Given the description of an element on the screen output the (x, y) to click on. 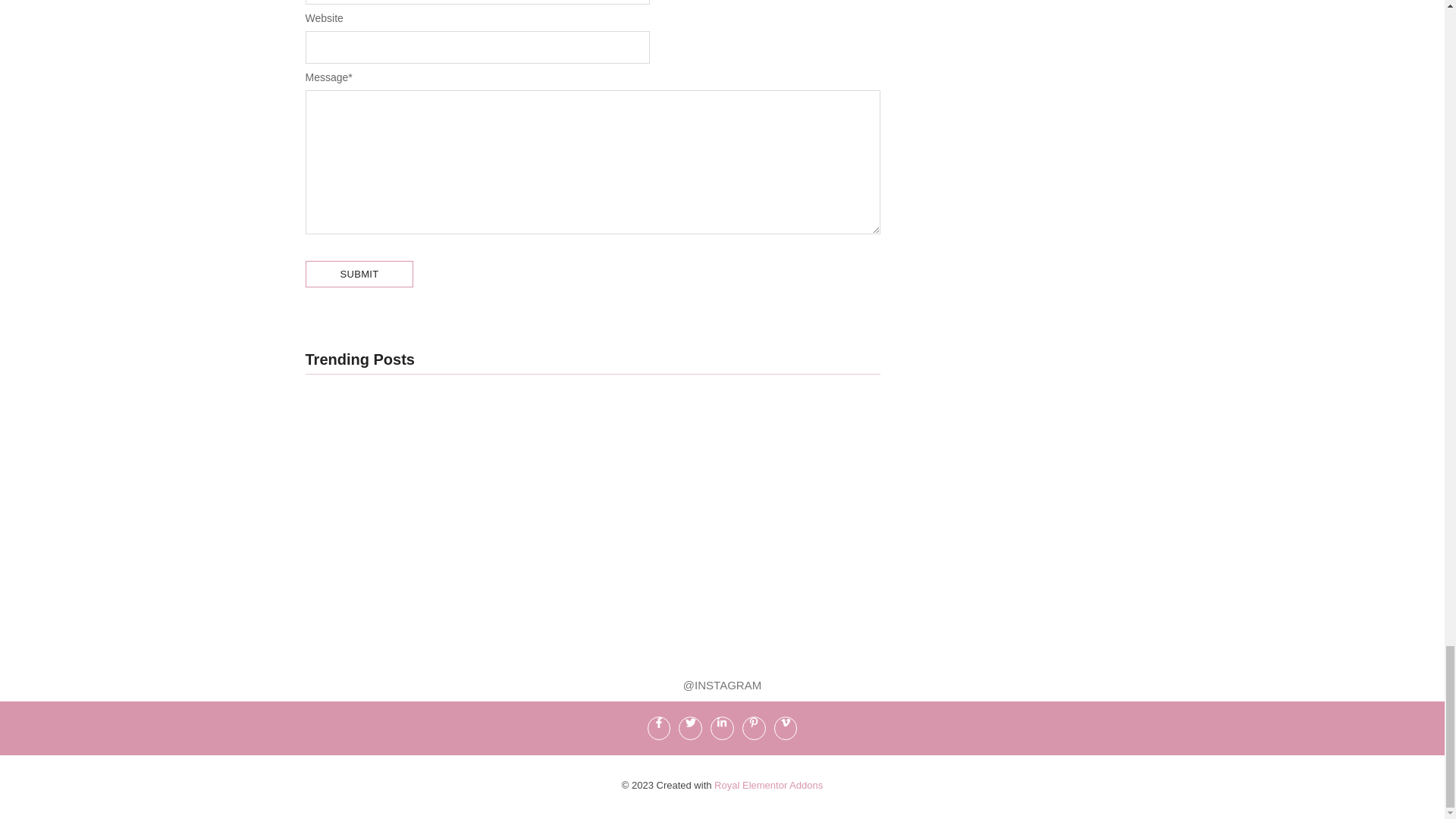
Submit (358, 274)
